Given the description of an element on the screen output the (x, y) to click on. 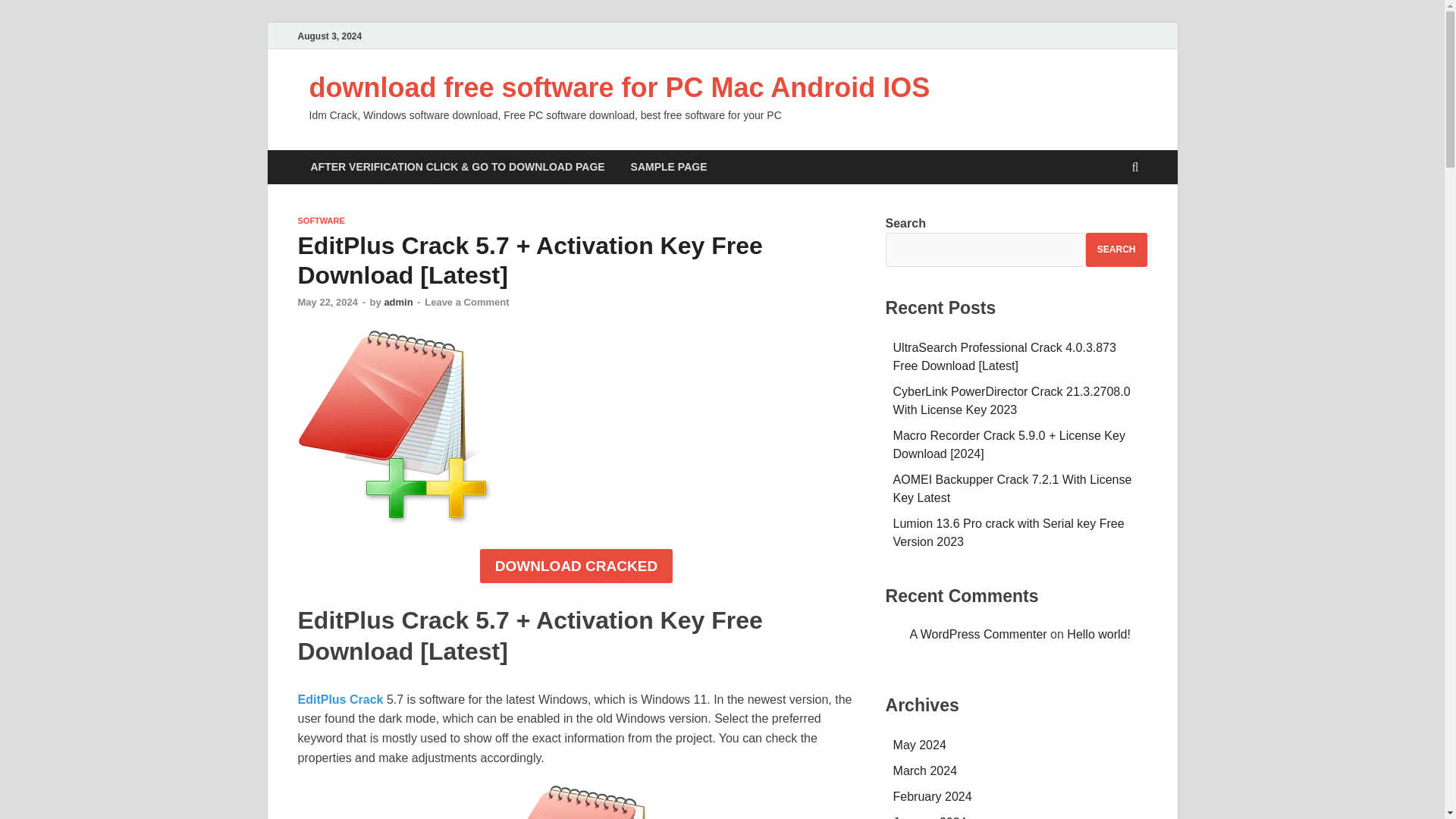
EditPlus Crack (341, 698)
SAMPLE PAGE (668, 166)
May 22, 2024 (327, 301)
SOFTWARE (320, 220)
download free software for PC Mac Android IOS (619, 87)
EditPlus Crack (575, 802)
DOWNLOAD CRACKED (576, 565)
SEARCH (1116, 249)
Leave a Comment (466, 301)
admin (398, 301)
DOWNLOAD CRACKED (576, 566)
